Given the description of an element on the screen output the (x, y) to click on. 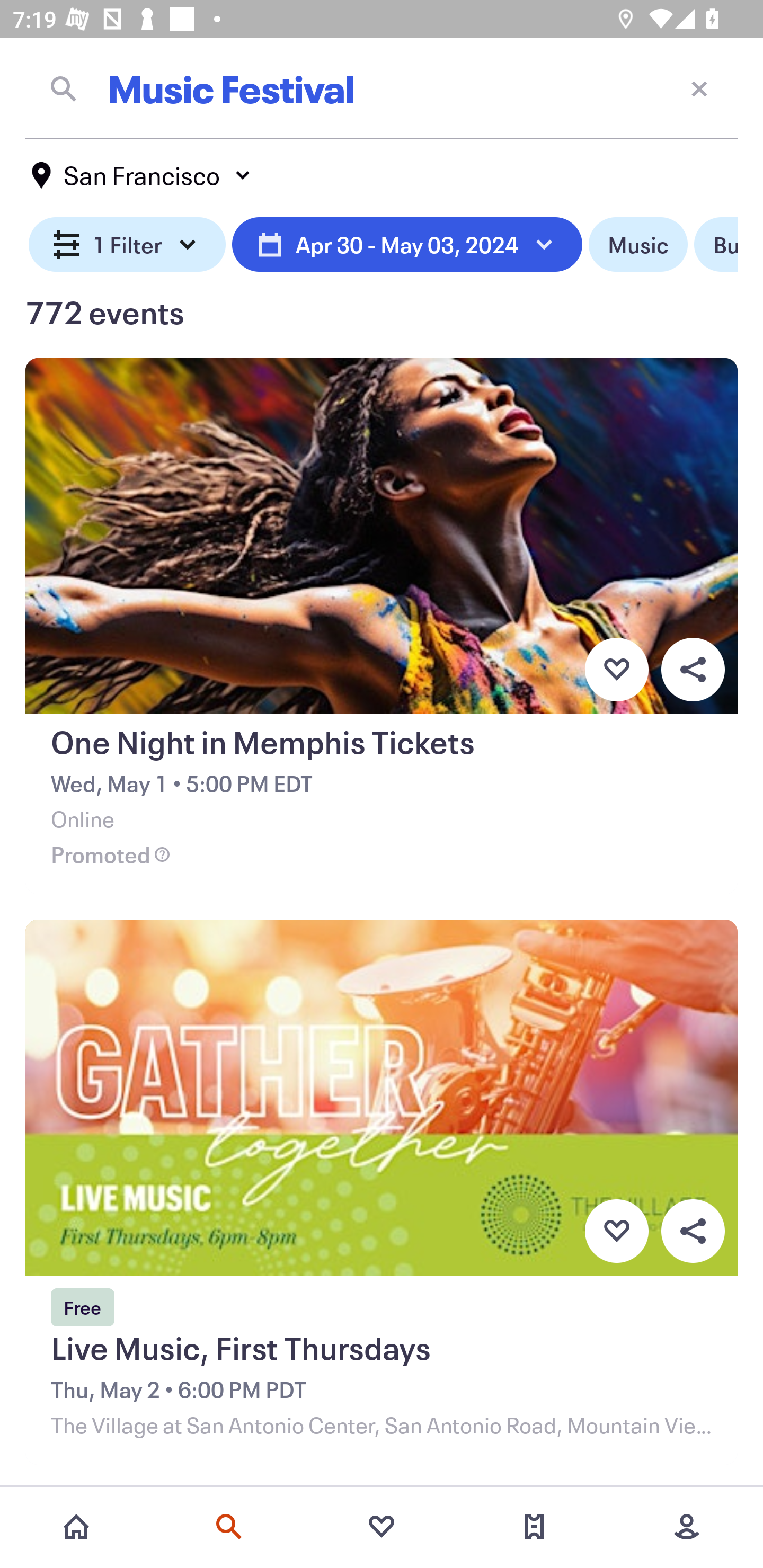
Music Festival Close current screen (381, 88)
Close current screen (699, 88)
San Francisco (141, 175)
1 Filter (126, 244)
Apr 30 - May 03, 2024 (406, 244)
Music (638, 244)
Favorite button (616, 669)
Overflow menu button (692, 669)
Favorite button (616, 1230)
Overflow menu button (692, 1230)
Home (76, 1526)
Search events (228, 1526)
Favorites (381, 1526)
Tickets (533, 1526)
More (686, 1526)
